Given the description of an element on the screen output the (x, y) to click on. 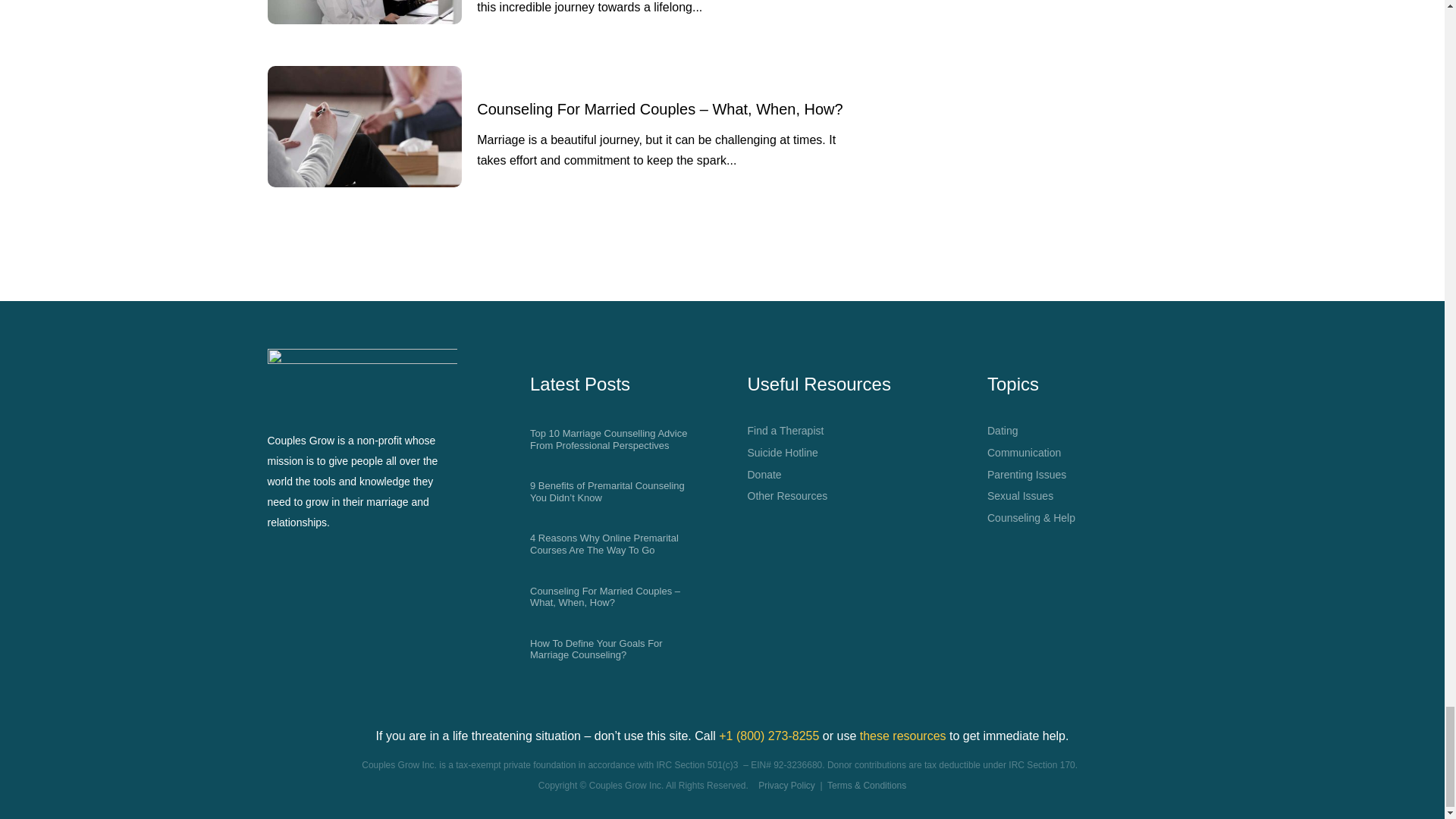
Couples Grow Logo White (361, 376)
